Given the description of an element on the screen output the (x, y) to click on. 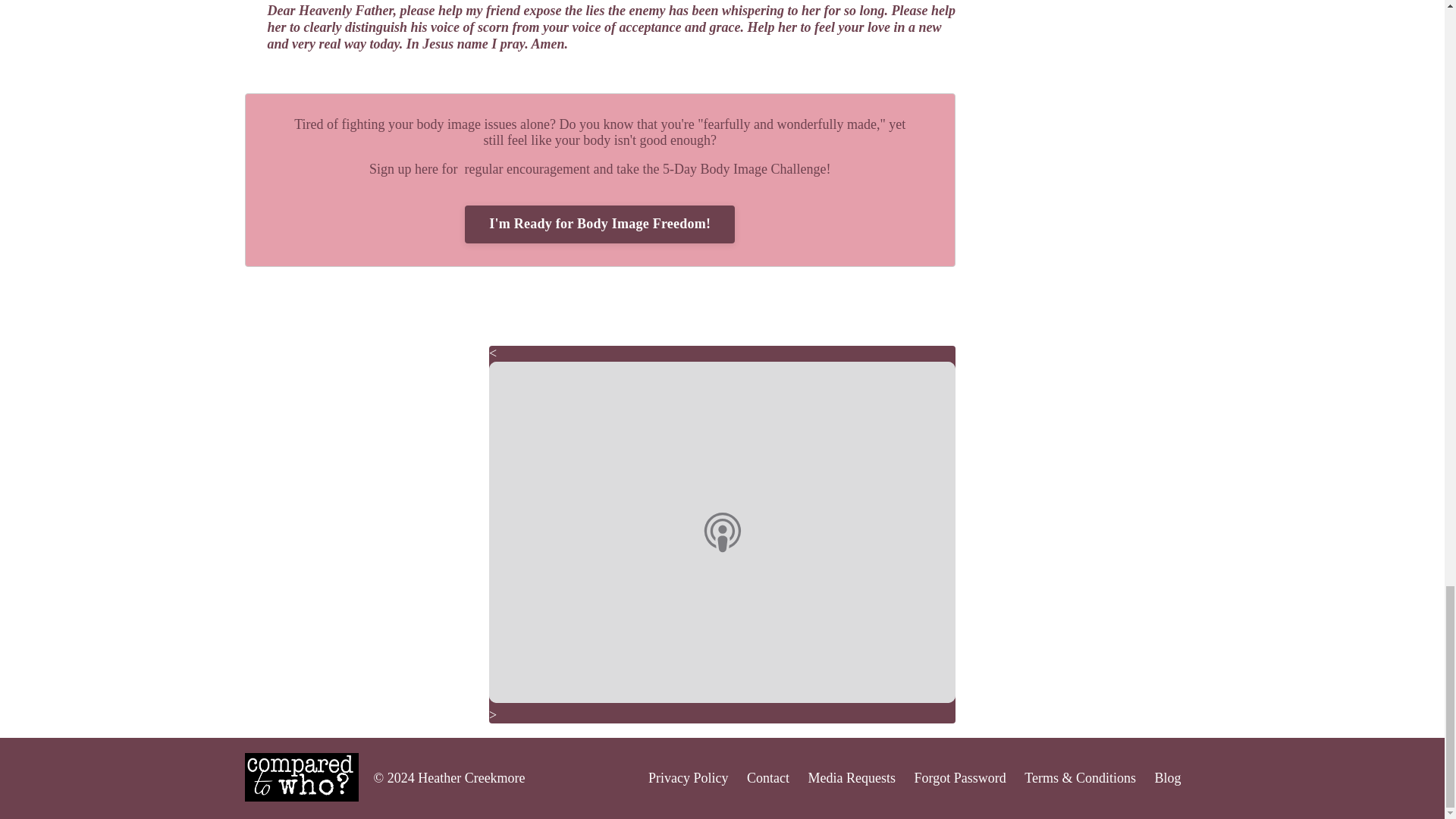
I'm Ready for Body Image Freedom! (599, 224)
